Given the description of an element on the screen output the (x, y) to click on. 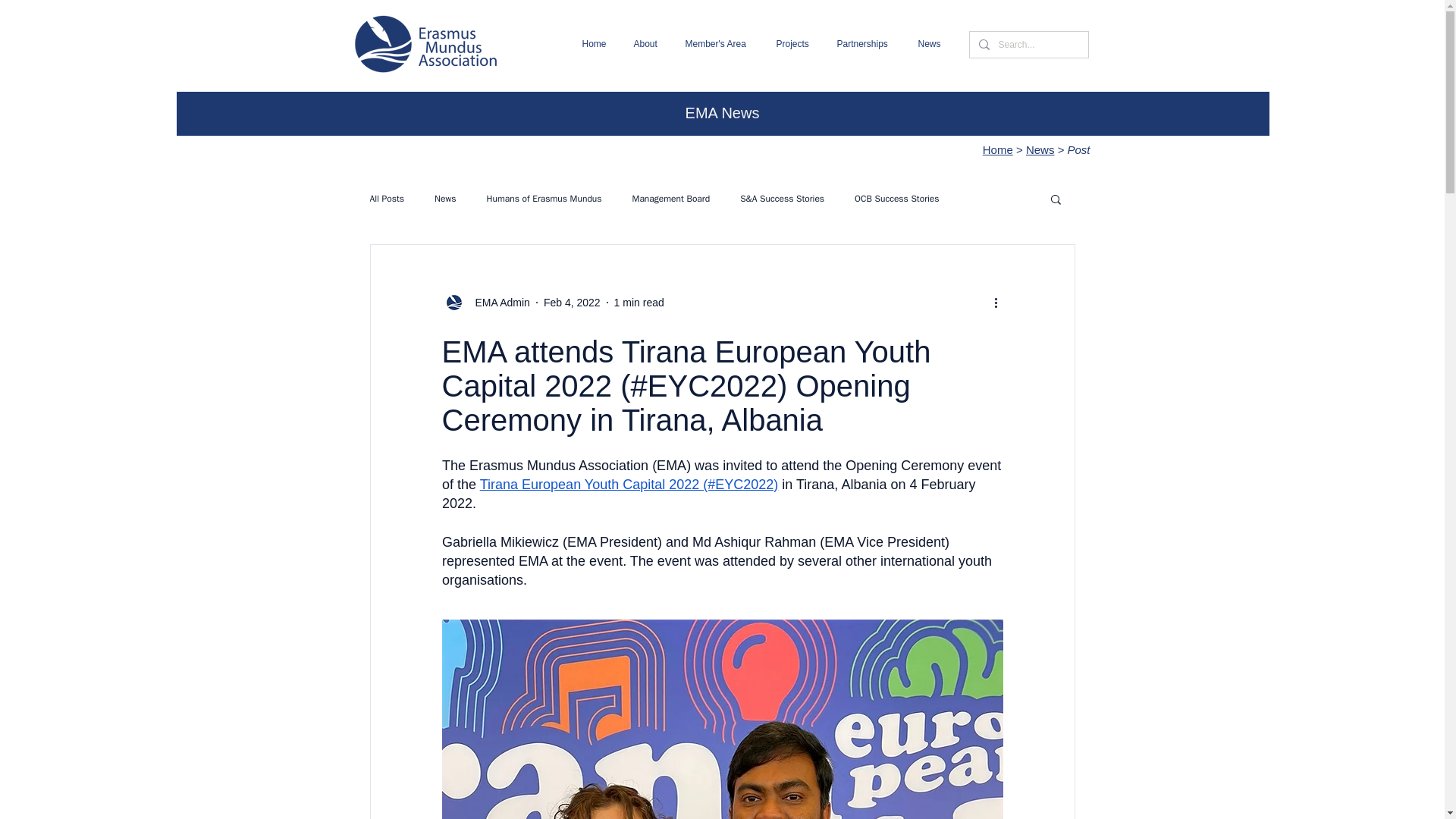
1 min read (638, 301)
News (445, 198)
News (931, 44)
Management Board (670, 198)
EMA Admin (497, 302)
Home (997, 149)
OCB Success Stories (896, 198)
Partnerships (865, 44)
Feb 4, 2022 (571, 301)
Home (595, 44)
